Given the description of an element on the screen output the (x, y) to click on. 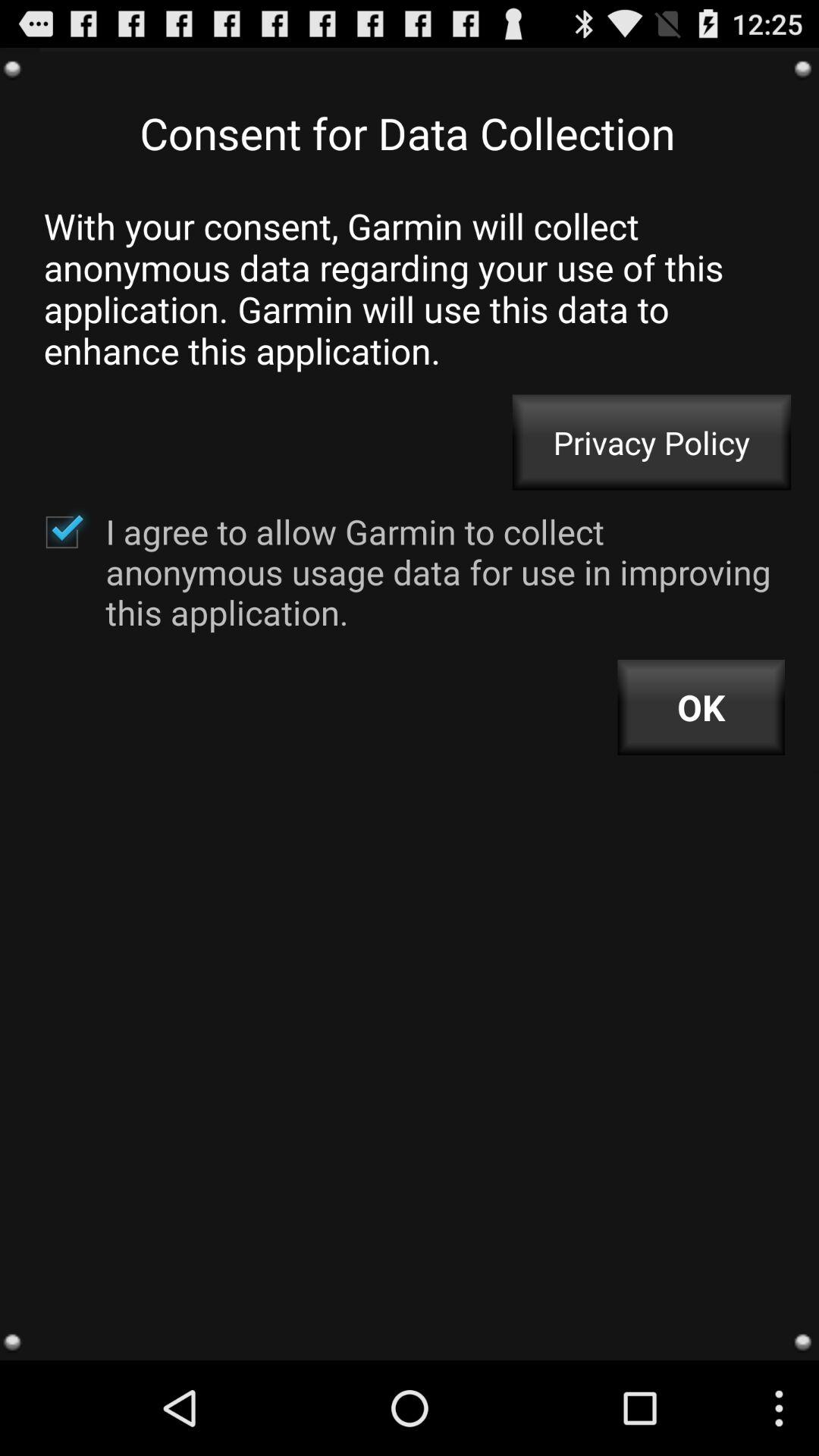
toggle agreement (61, 532)
